Given the description of an element on the screen output the (x, y) to click on. 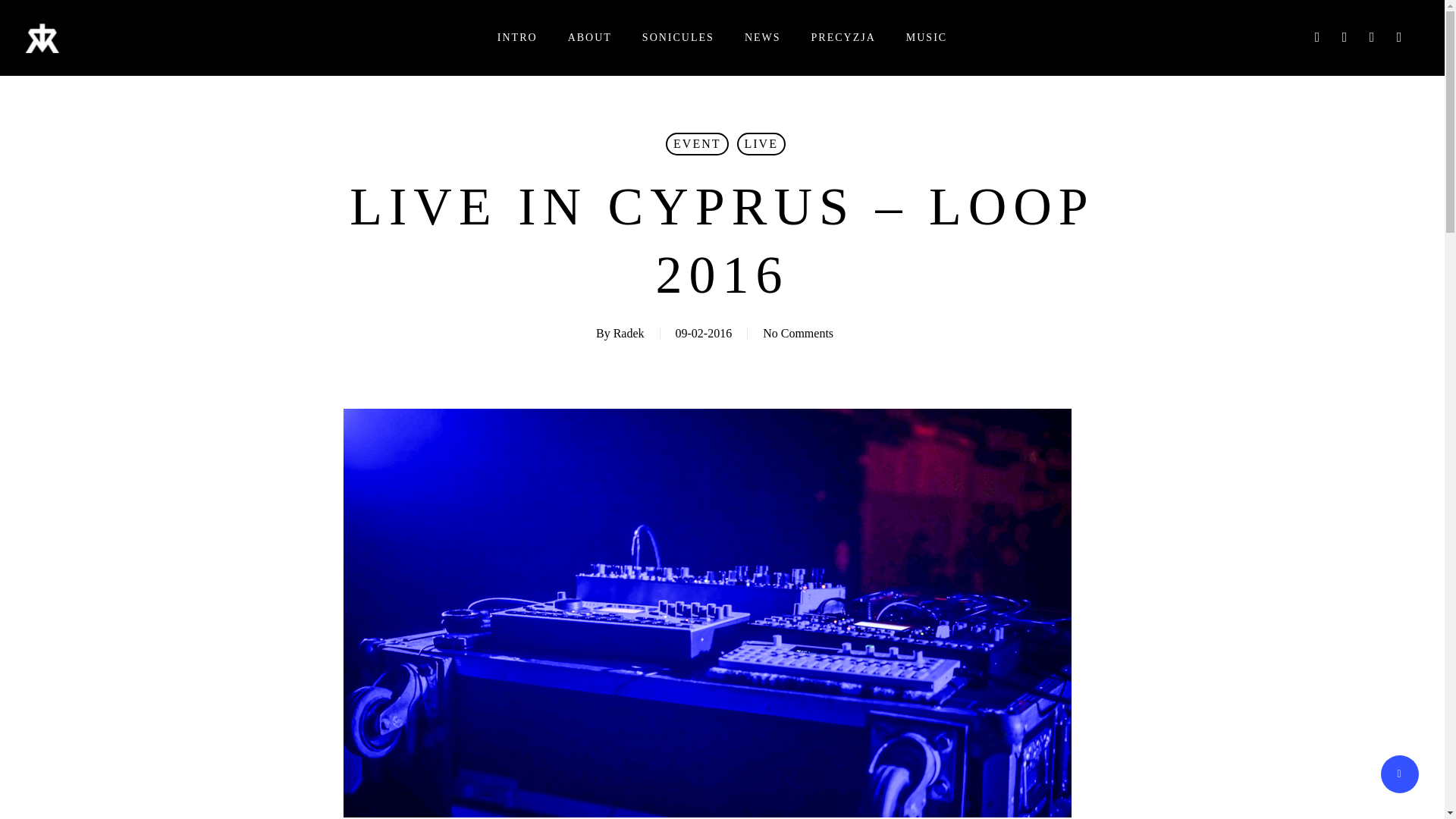
INTRO (517, 37)
ABOUT (589, 37)
facebook (642, 709)
SONICULES (678, 37)
Radek (628, 332)
EMAIL (1399, 37)
TWITTER (1318, 37)
PRECYZJA (843, 37)
github (748, 709)
vimeo (695, 709)
SOUNDCLOUD (1372, 37)
soundcloud (854, 709)
NEWS (762, 37)
instagram (802, 709)
INSTAGRAM (1345, 37)
